Given the description of an element on the screen output the (x, y) to click on. 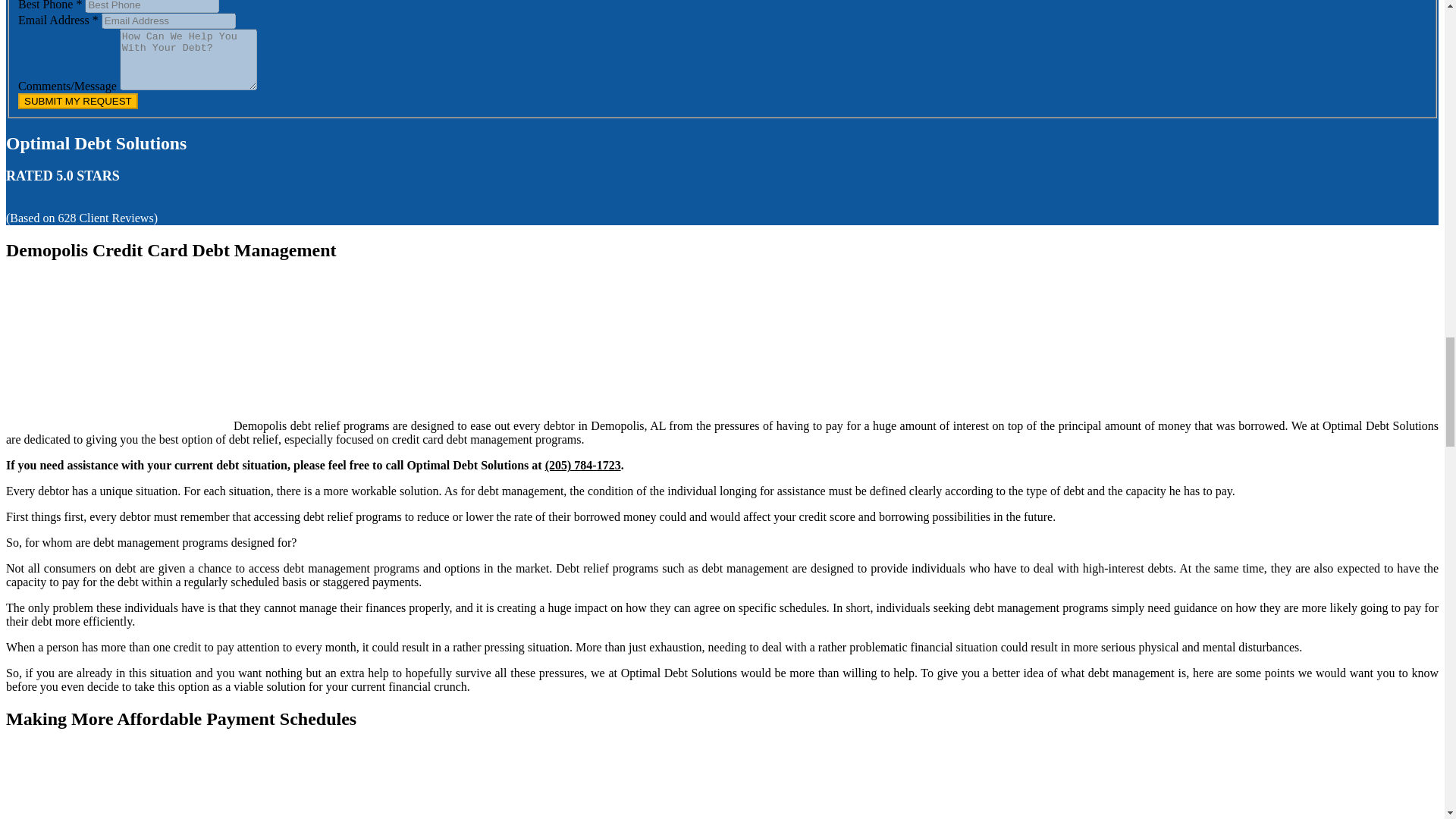
SUBMIT MY REQUEST (77, 100)
